Given the description of an element on the screen output the (x, y) to click on. 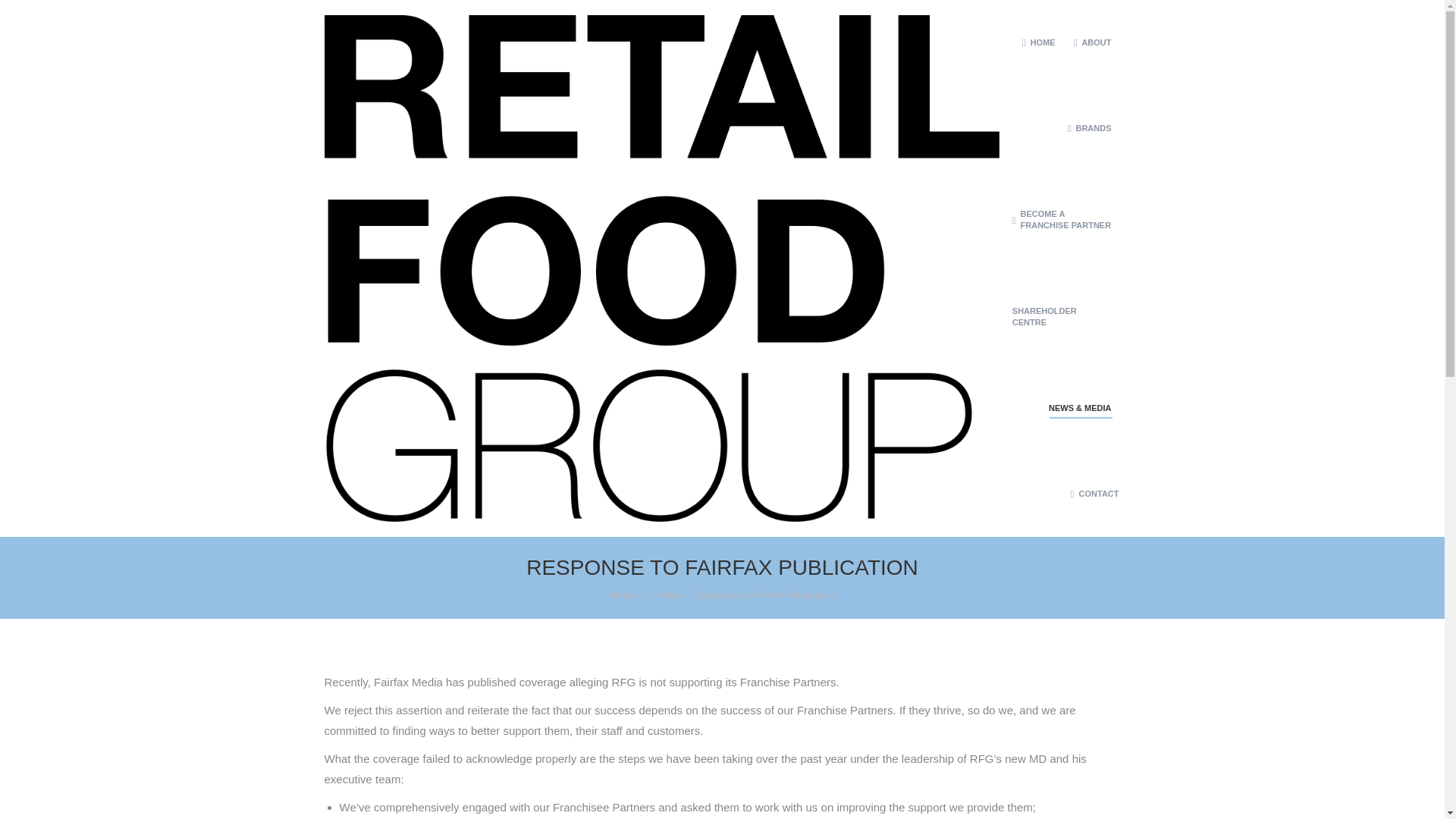
Media (665, 594)
SHAREHOLDER CENTRE (1061, 316)
Home (624, 594)
BECOME A FRANCHISE PARTNER (1061, 219)
